Given the description of an element on the screen output the (x, y) to click on. 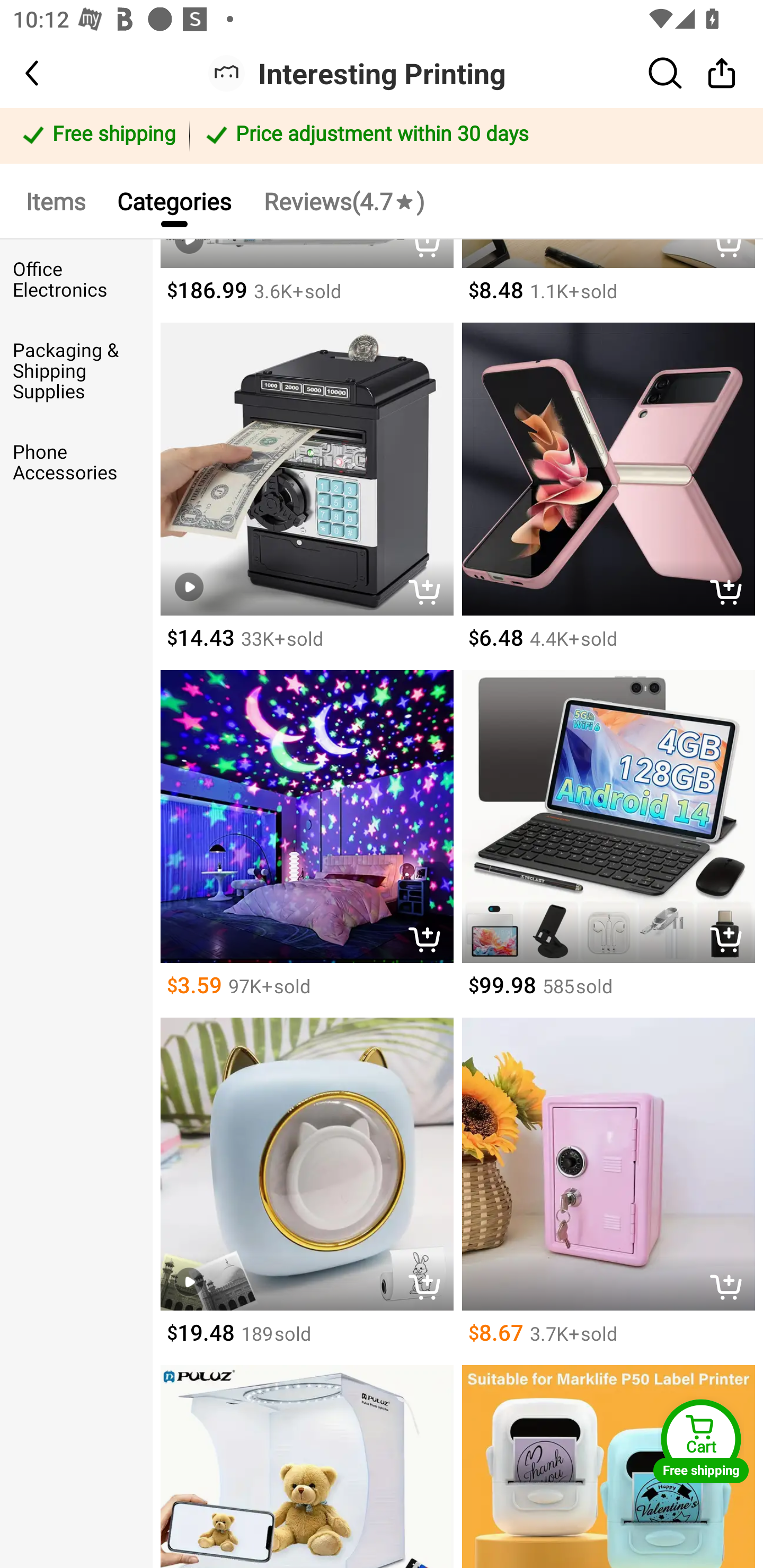
back (47, 72)
share (721, 72)
Free shipping (97, 135)
Price adjustment within 30 days (472, 135)
Items (55, 200)
Categories (174, 200)
Reviews(4.7 ) (343, 200)
Office Electronics (76, 279)
delete $186.99 3.6K+￼sold (306, 281)
delete $8.48 1.1K+￼sold (608, 281)
Packaging & Shipping Supplies (76, 370)
delete $14.43 33K+￼sold (306, 496)
delete $6.48 4.4K+￼sold (608, 496)
Phone Accessories (76, 462)
delete (429, 594)
delete (731, 594)
delete $3.59 97K+￼sold (306, 843)
delete $99.98 585￼sold (608, 843)
delete (429, 941)
delete (731, 941)
delete $19.48 189￼sold (306, 1191)
delete $8.67 3.7K+￼sold (608, 1191)
delete (429, 1288)
delete (731, 1288)
Cart Free shipping Cart (701, 1440)
